Given the description of an element on the screen output the (x, y) to click on. 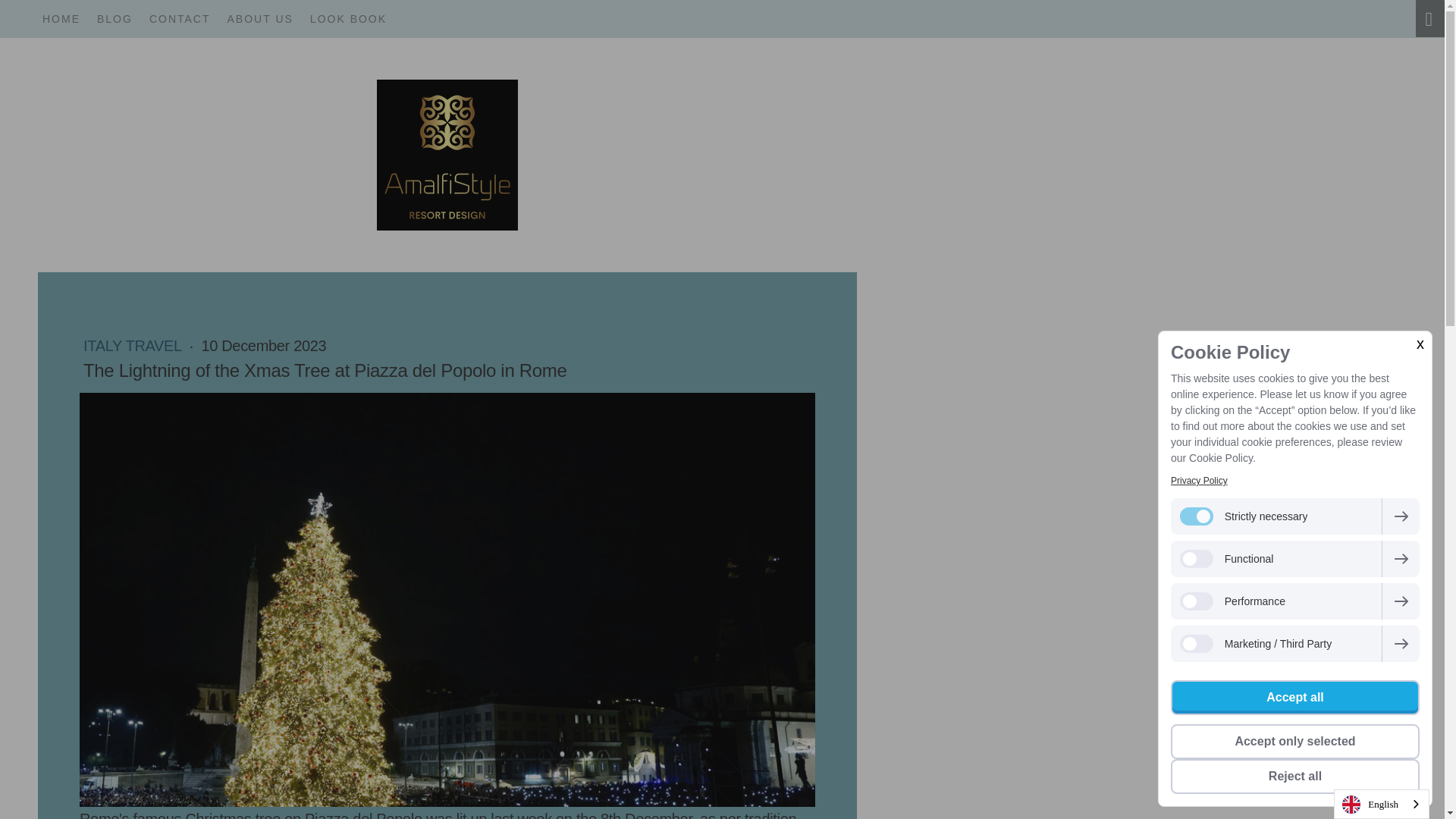
ABOUT US (260, 18)
CONTACT (180, 18)
BLOG (114, 18)
ITALY TRAVEL (133, 345)
HOME (60, 18)
LOOK BOOK (347, 18)
